Given the description of an element on the screen output the (x, y) to click on. 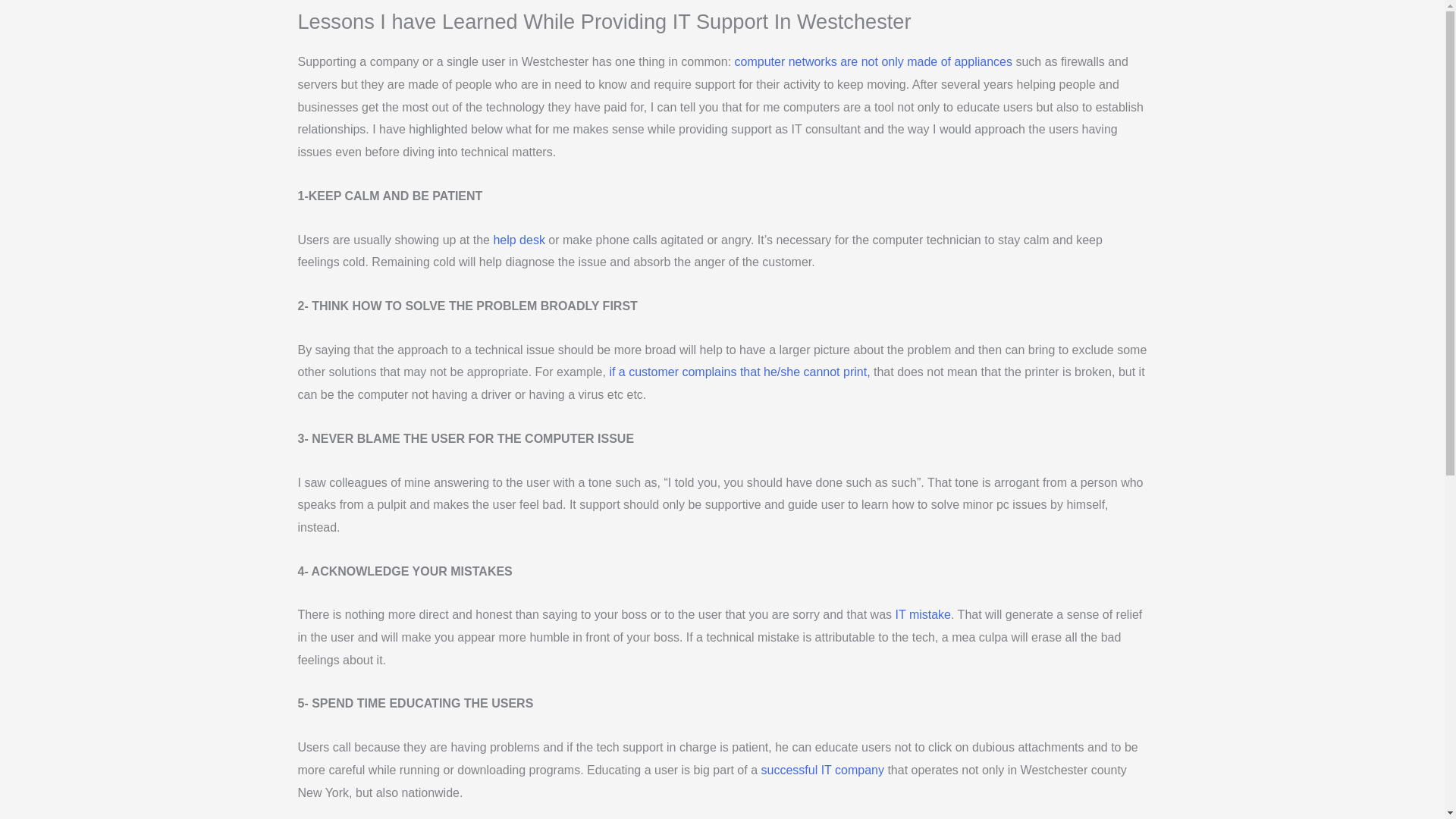
computer networks are not only made of appliances (872, 61)
IT mistake (922, 614)
help desk (520, 239)
successful IT company (824, 769)
